Given the description of an element on the screen output the (x, y) to click on. 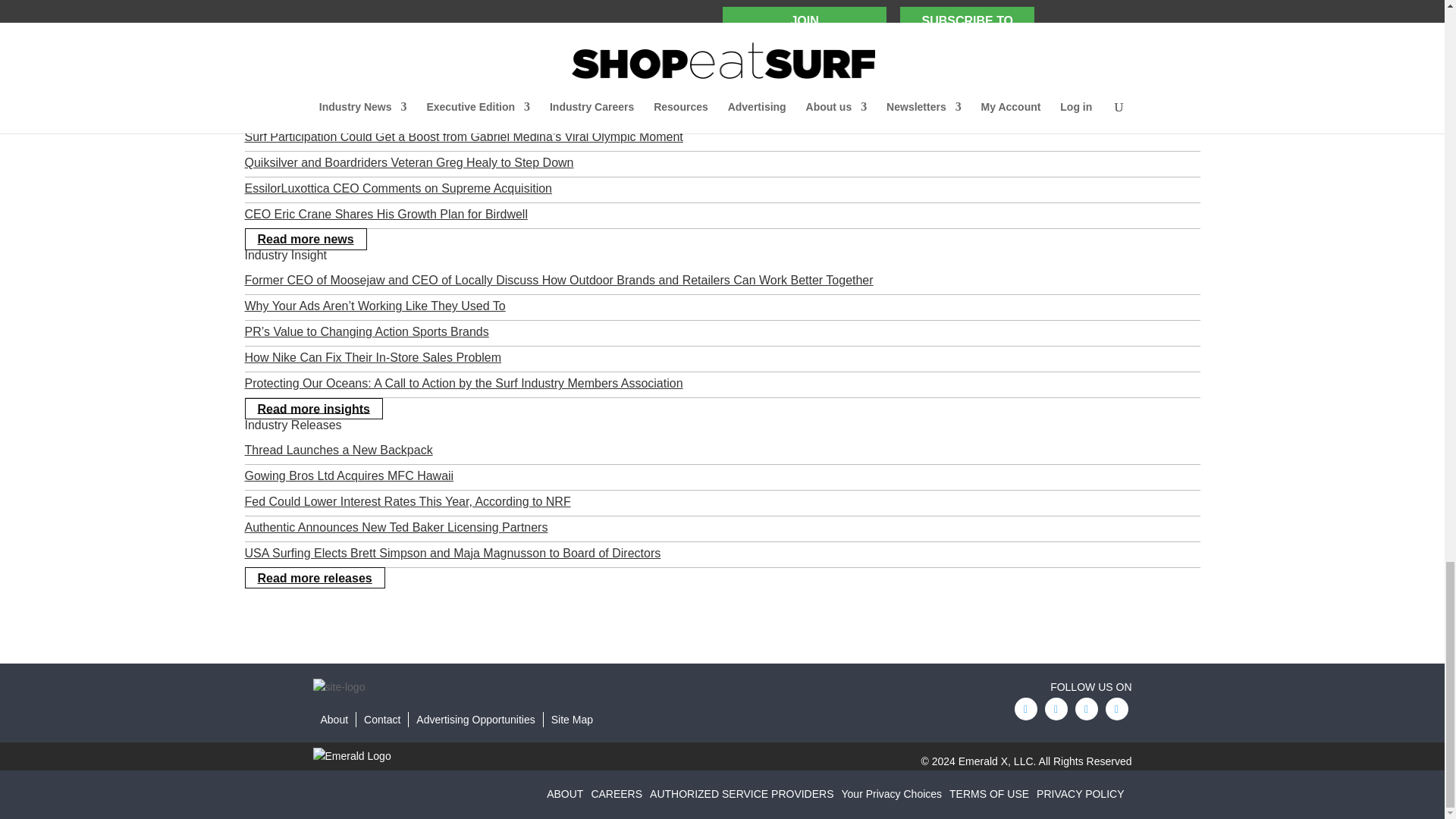
your-privacy-choices (895, 793)
privacy-policy (1083, 793)
terms-of-use (992, 793)
authorized-service-providers (745, 793)
careers (620, 793)
about (569, 793)
